Given the description of an element on the screen output the (x, y) to click on. 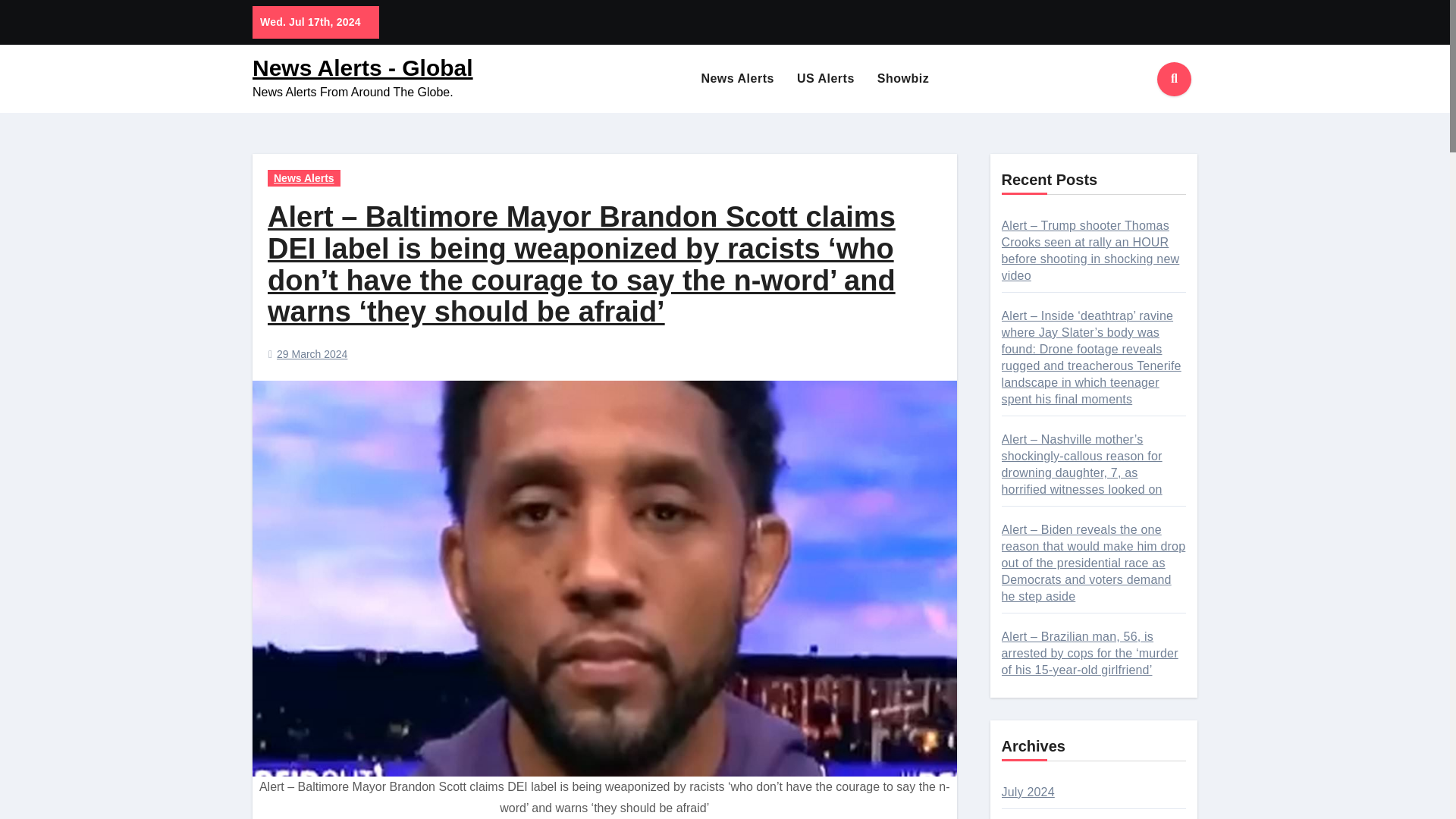
29 March 2024 (311, 354)
US Alerts (826, 79)
News Alerts (737, 79)
Showbiz (903, 79)
News Alerts - Global (362, 67)
News Alerts (737, 79)
News Alerts (303, 177)
Showbiz (903, 79)
US Alerts (826, 79)
